Given the description of an element on the screen output the (x, y) to click on. 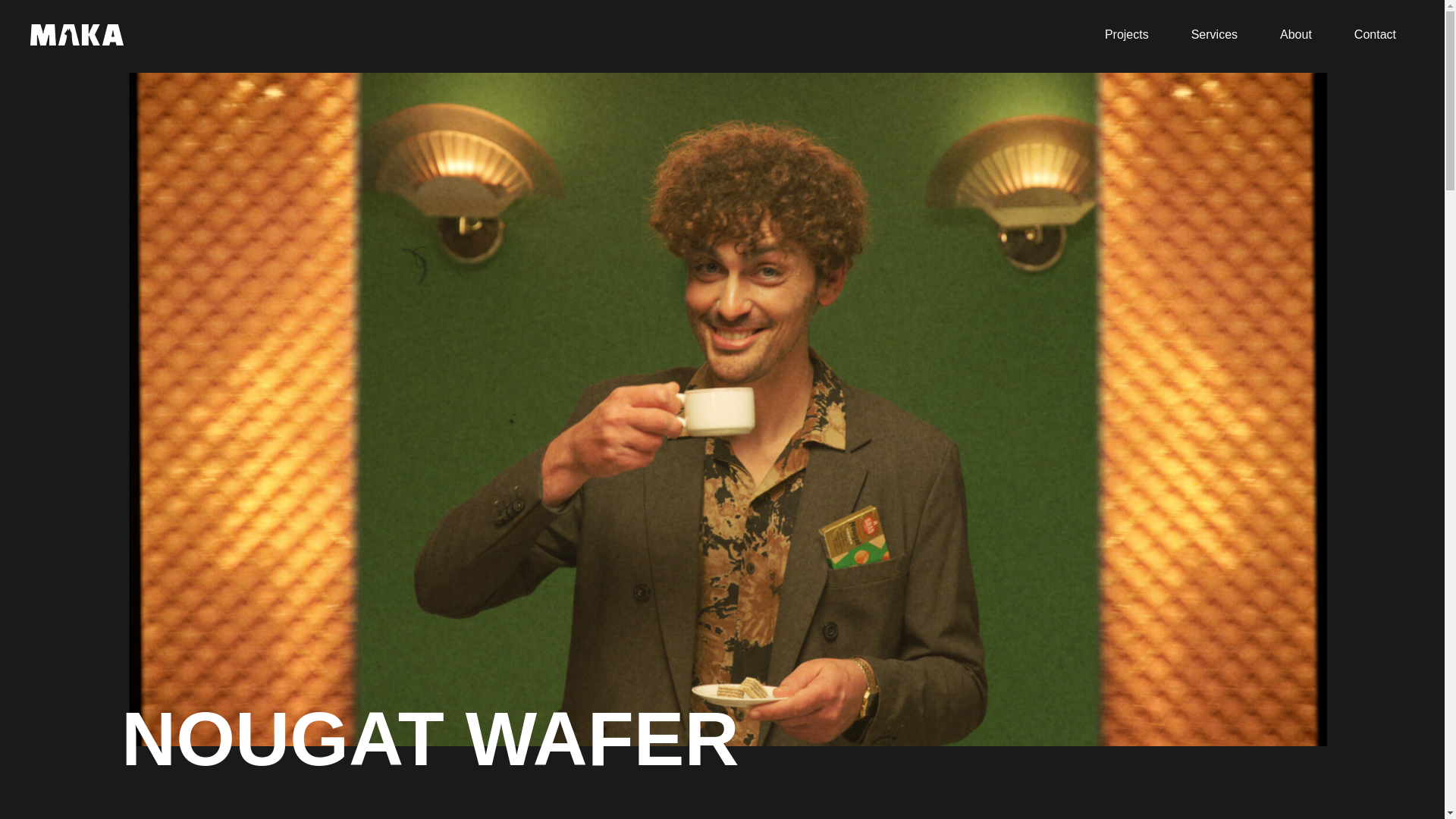
Contact (1383, 34)
About (1304, 34)
Services (1223, 34)
Projects (1136, 34)
